Given the description of an element on the screen output the (x, y) to click on. 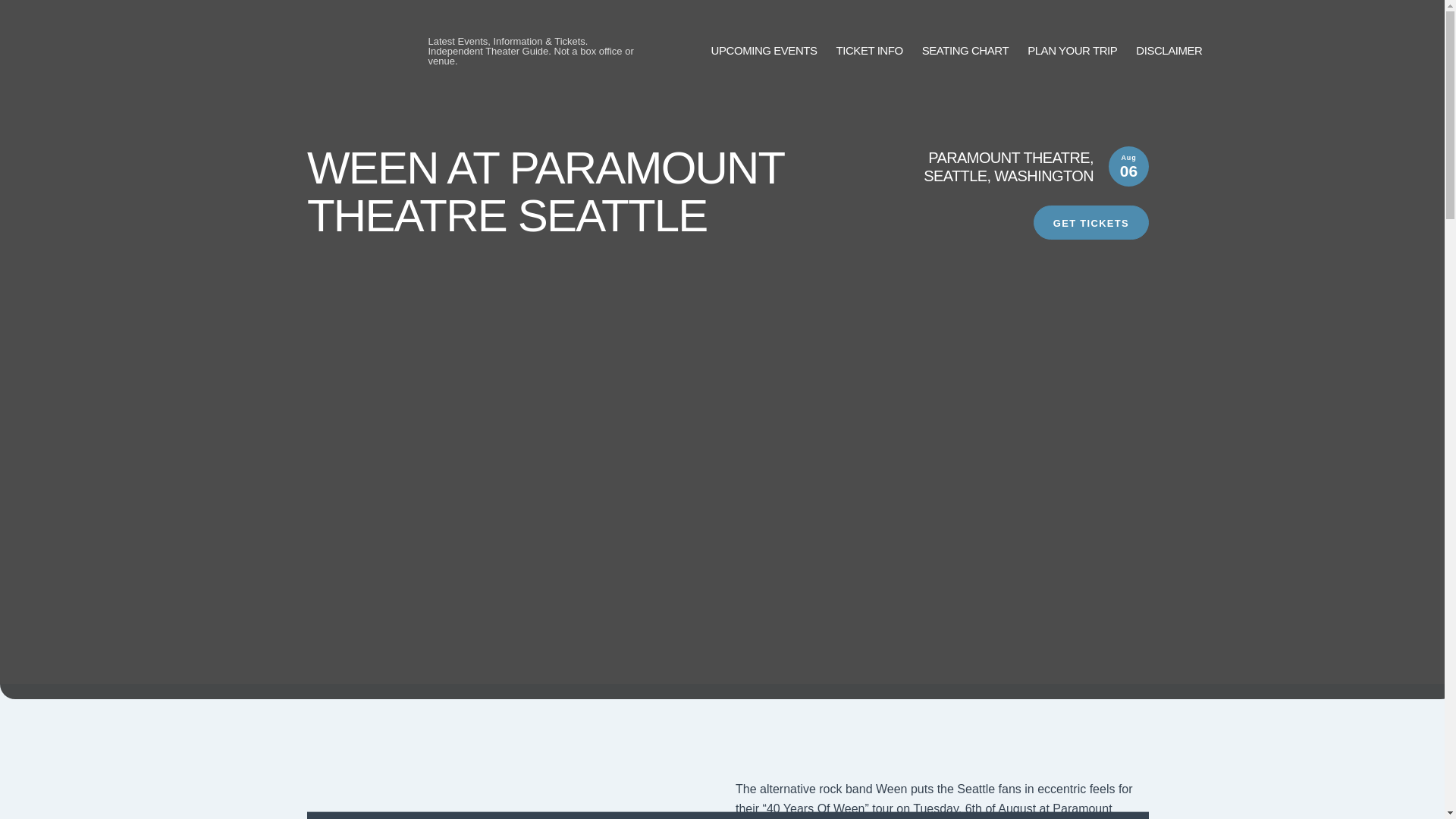
SEATING CHART (965, 50)
PLAN YOUR TRIP (1071, 50)
TICKET INFO (868, 50)
DISCLAIMER (1168, 50)
UPCOMING EVENTS (763, 50)
GET TICKETS (1090, 222)
